Given the description of an element on the screen output the (x, y) to click on. 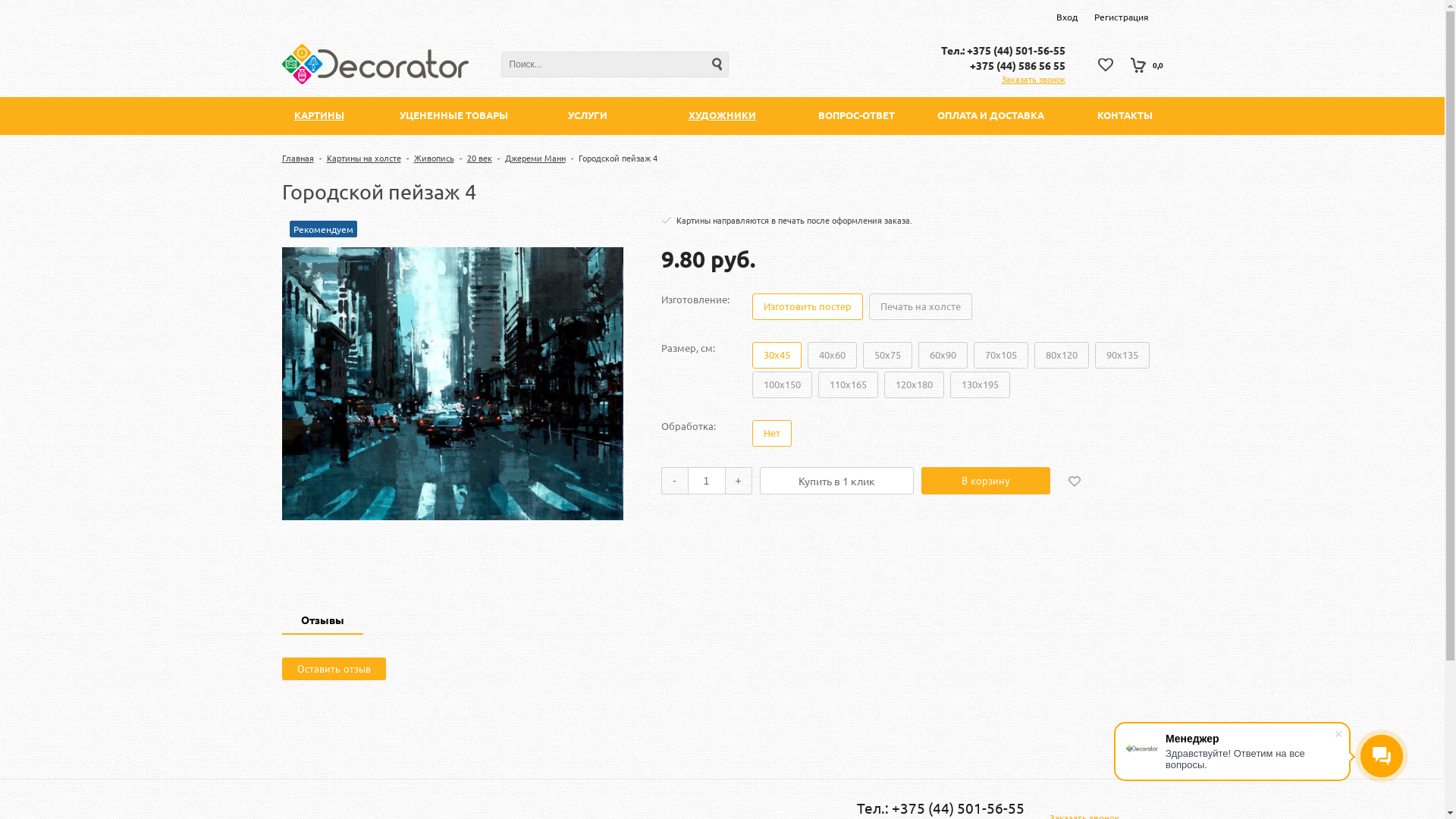
90x135 Element type: text (1122, 355)
130x195 Element type: text (979, 384)
- Element type: text (674, 480)
70x105 Element type: text (1000, 355)
50x75 Element type: text (887, 355)
60x90 Element type: text (941, 355)
110x165 Element type: text (847, 384)
+ Element type: text (737, 480)
0,0 Element type: text (1145, 64)
40x60 Element type: text (831, 355)
100x150 Element type: text (782, 384)
80x120 Element type: text (1061, 355)
Decorator.by Element type: hover (375, 64)
120x180 Element type: text (914, 384)
30x45 Element type: text (776, 355)
